Given the description of an element on the screen output the (x, y) to click on. 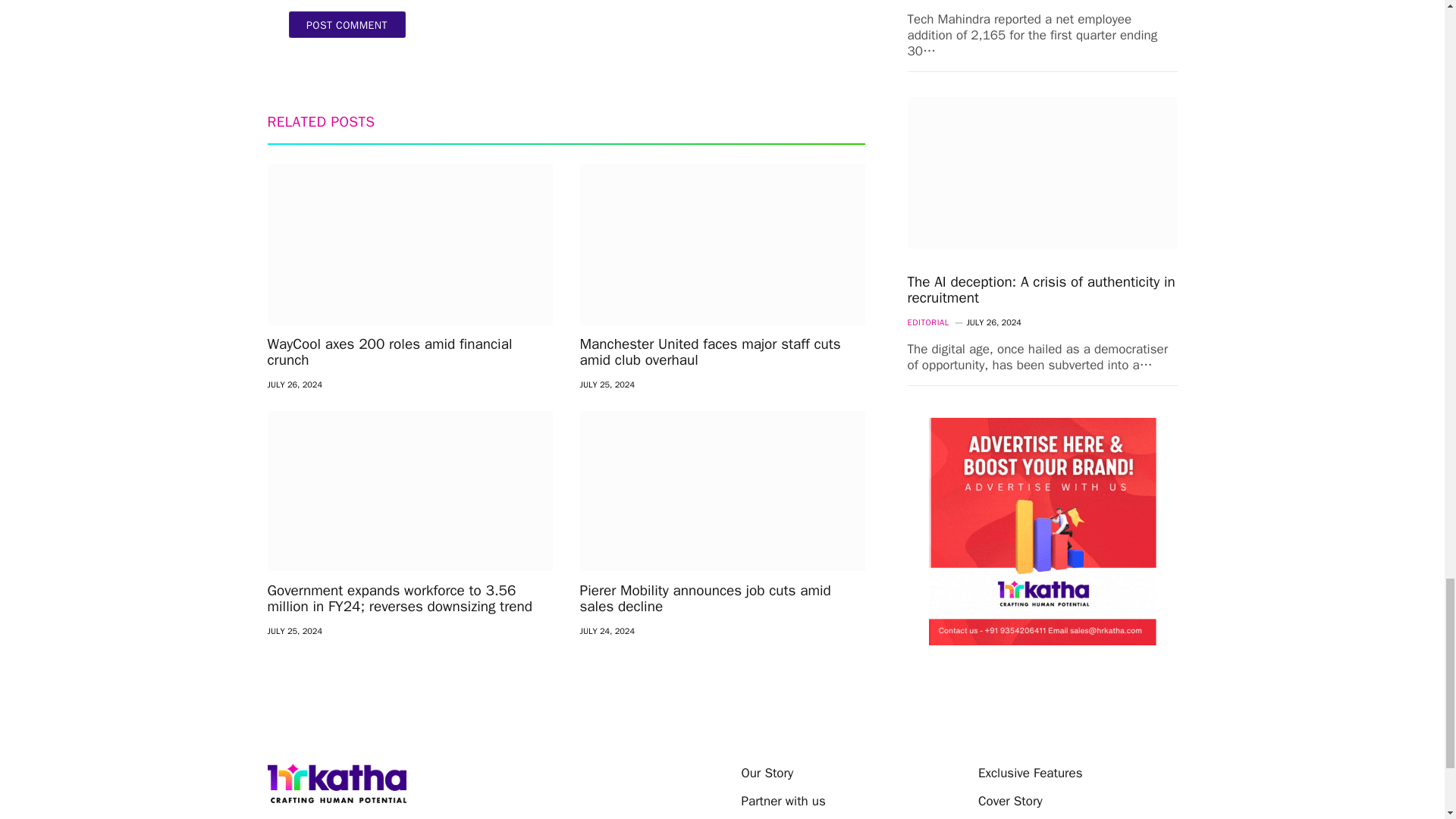
Post Comment (346, 24)
